Given the description of an element on the screen output the (x, y) to click on. 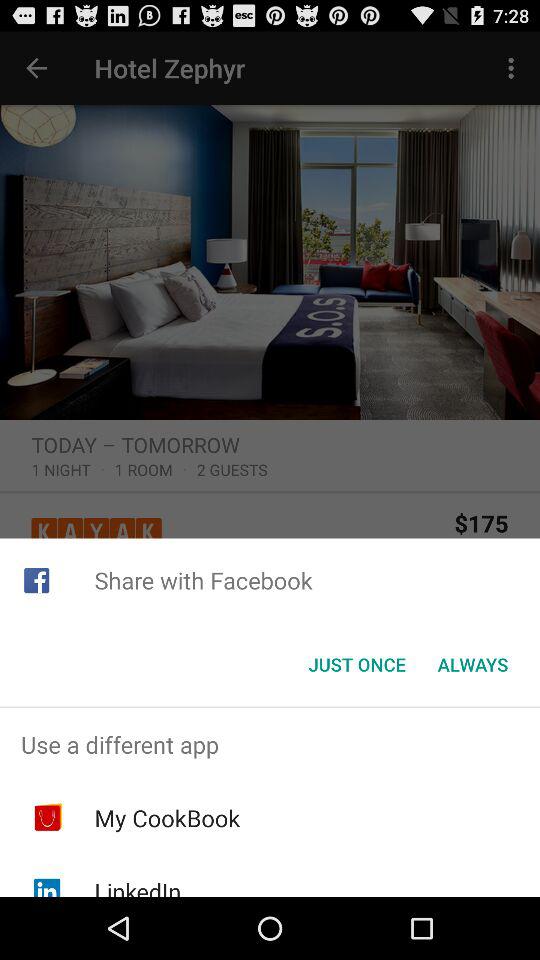
turn off the always at the bottom right corner (472, 664)
